Given the description of an element on the screen output the (x, y) to click on. 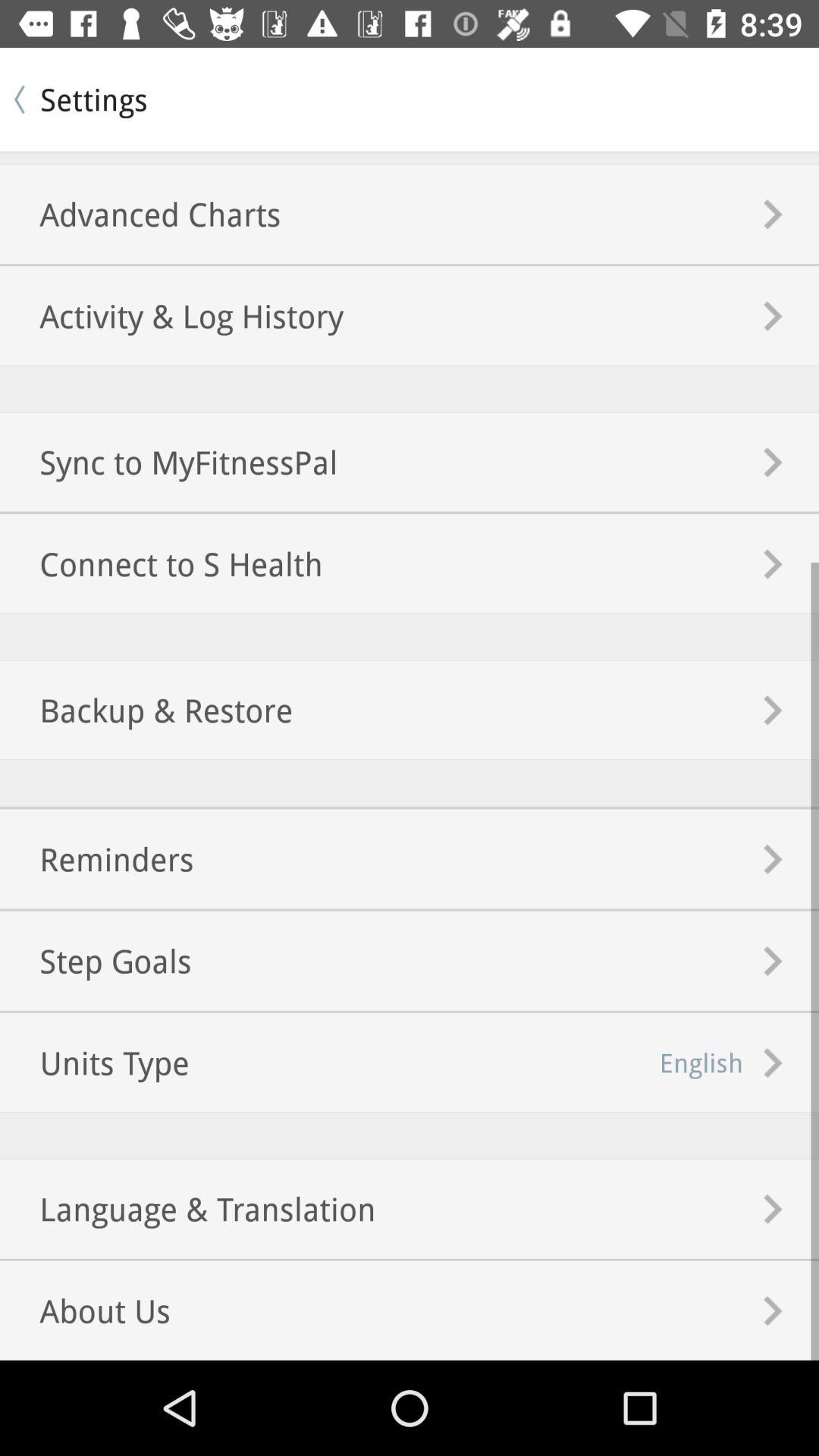
turn off the backup & restore item (146, 709)
